Given the description of an element on the screen output the (x, y) to click on. 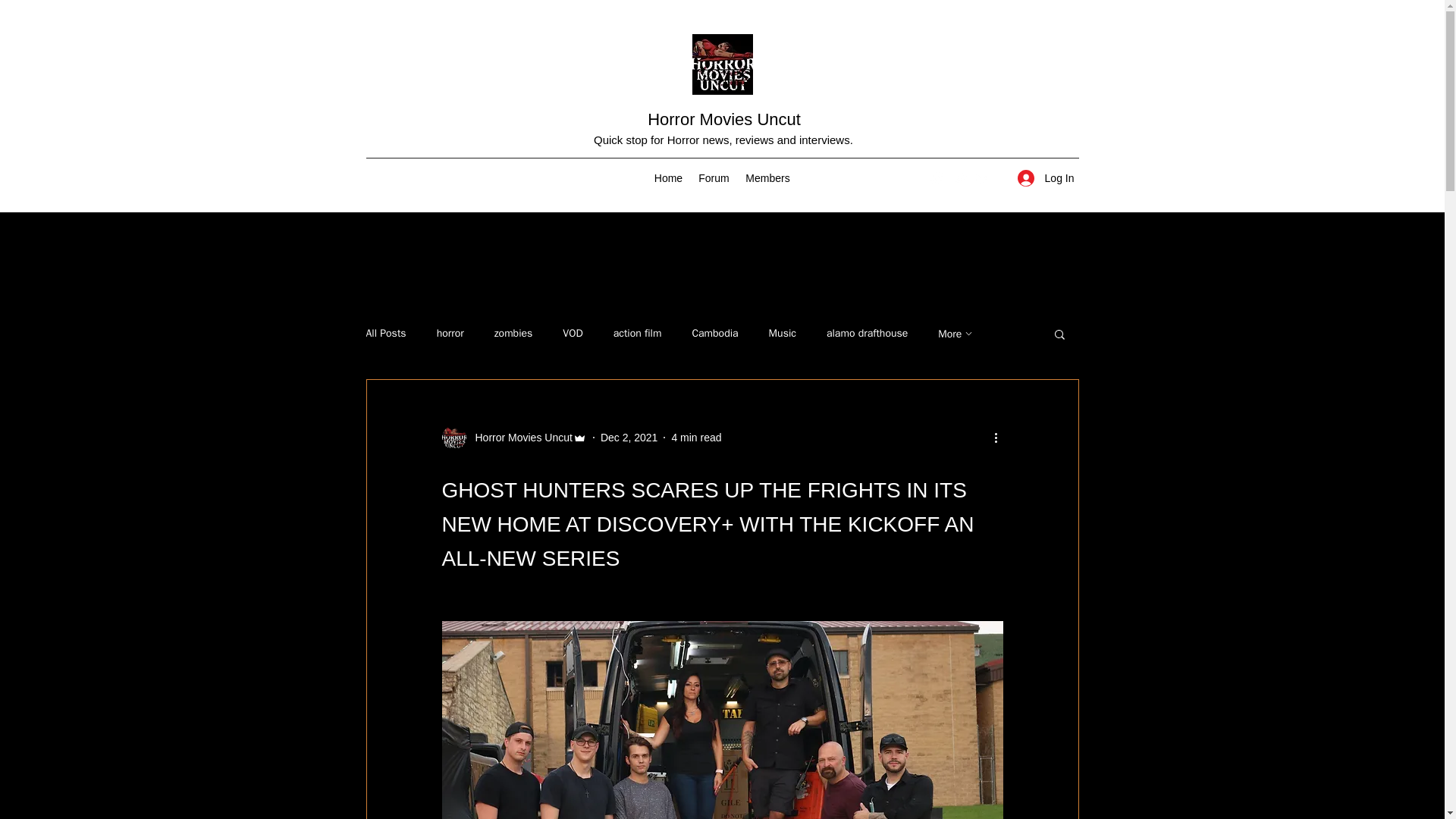
Log In (1045, 178)
Cambodia (714, 333)
4 min read (695, 437)
Music (782, 333)
action film (637, 333)
All Posts (385, 333)
Horror Movies Uncut (723, 118)
Home (668, 178)
Dec 2, 2021 (628, 437)
Forum (713, 178)
